Given the description of an element on the screen output the (x, y) to click on. 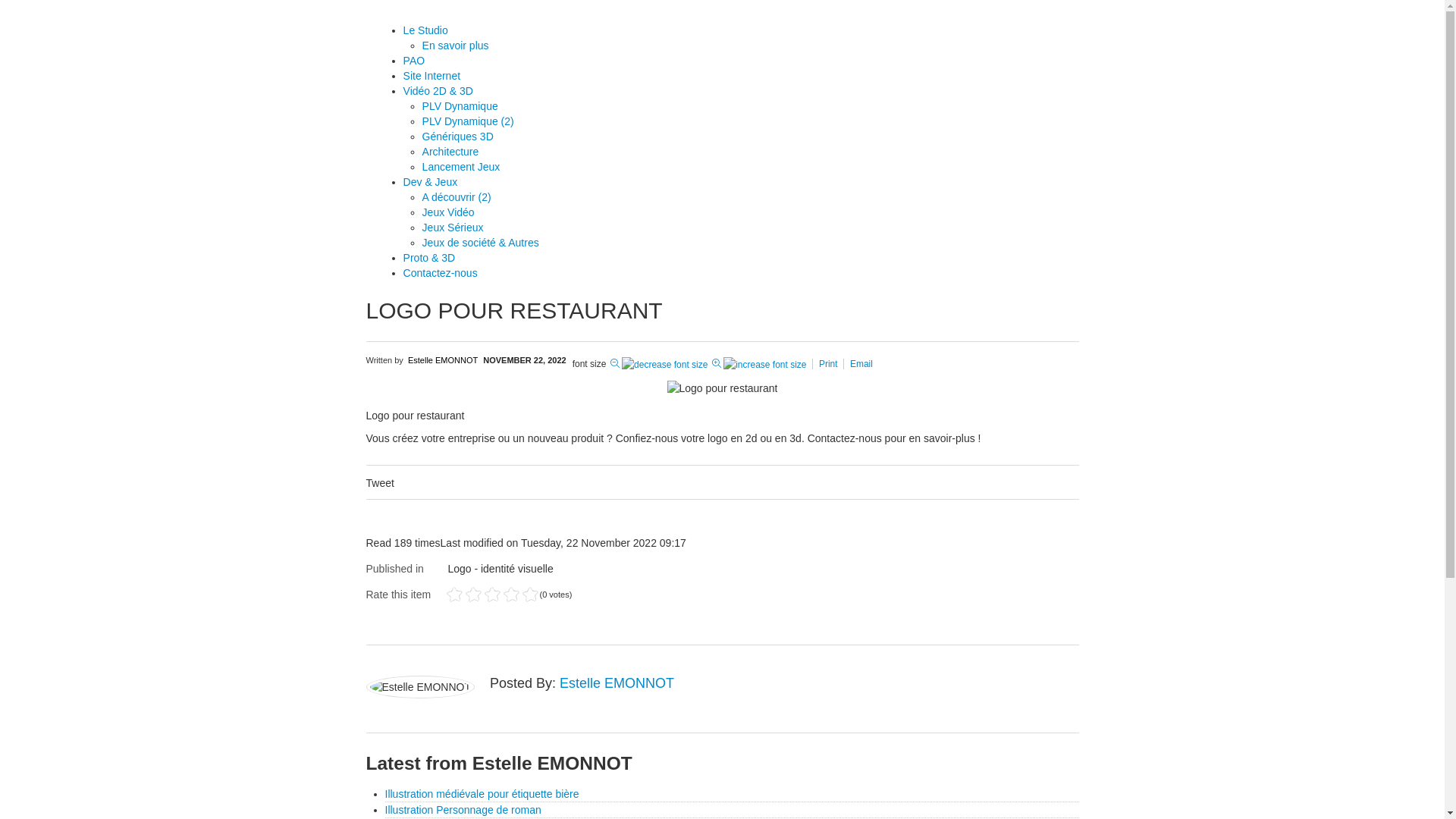
Contactez-nous Element type: text (440, 272)
2 Element type: text (463, 594)
Estelle EMONNOT Element type: text (442, 359)
Dev & Jeux Element type: text (430, 181)
3 Element type: text (472, 594)
Le Studio Element type: text (425, 30)
PLV Dynamique Element type: text (460, 106)
5 Element type: text (491, 594)
Click to preview image Element type: hover (721, 387)
Tweet Element type: text (379, 482)
Estelle EMONNOT Element type: text (616, 682)
En savoir plus Element type: text (455, 45)
Print Element type: text (829, 363)
Site Internet Element type: text (432, 75)
Contactez-nous Element type: text (844, 438)
Email Element type: text (861, 363)
Architecture Element type: text (450, 151)
4 Element type: text (482, 594)
Lancement Jeux Element type: text (461, 166)
PLV Dynamique (2) Element type: text (468, 121)
Illustration Personnage de roman Element type: text (463, 809)
Proto & 3D Element type: text (429, 257)
PAO Element type: text (414, 60)
1 Element type: text (453, 594)
